Given the description of an element on the screen output the (x, y) to click on. 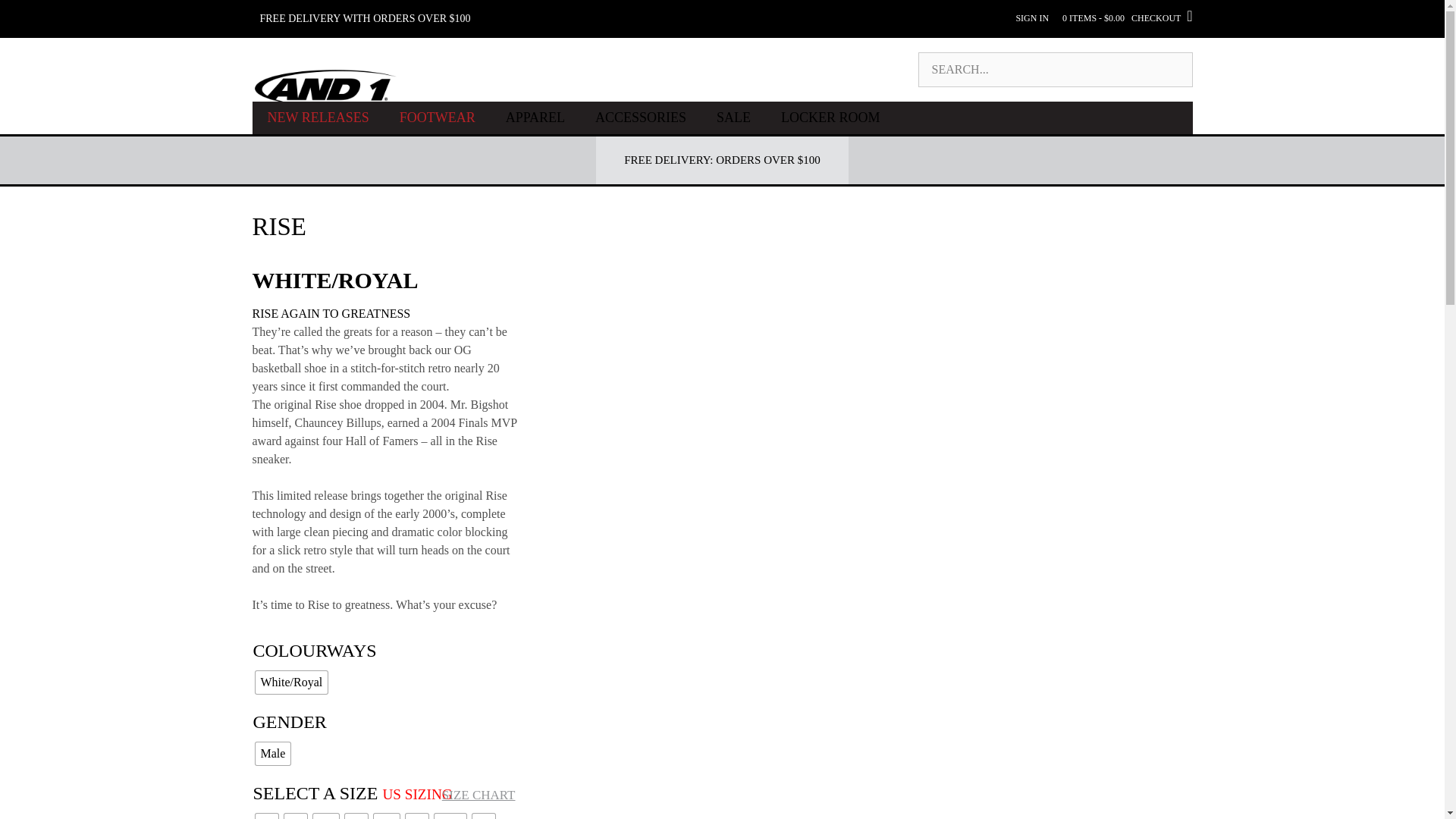
8.5 (325, 816)
10.5 (449, 816)
FOOTWEAR (437, 117)
9.5 (385, 816)
View your shopping cart (1127, 11)
LOCKER ROOM (830, 117)
ACCESSORIES (640, 117)
Male (271, 753)
10 (416, 816)
Login (1031, 11)
SIGN IN (1031, 11)
Search for: (1054, 69)
NEW RELEASES (317, 117)
9 (354, 816)
8 (294, 816)
